Given the description of an element on the screen output the (x, y) to click on. 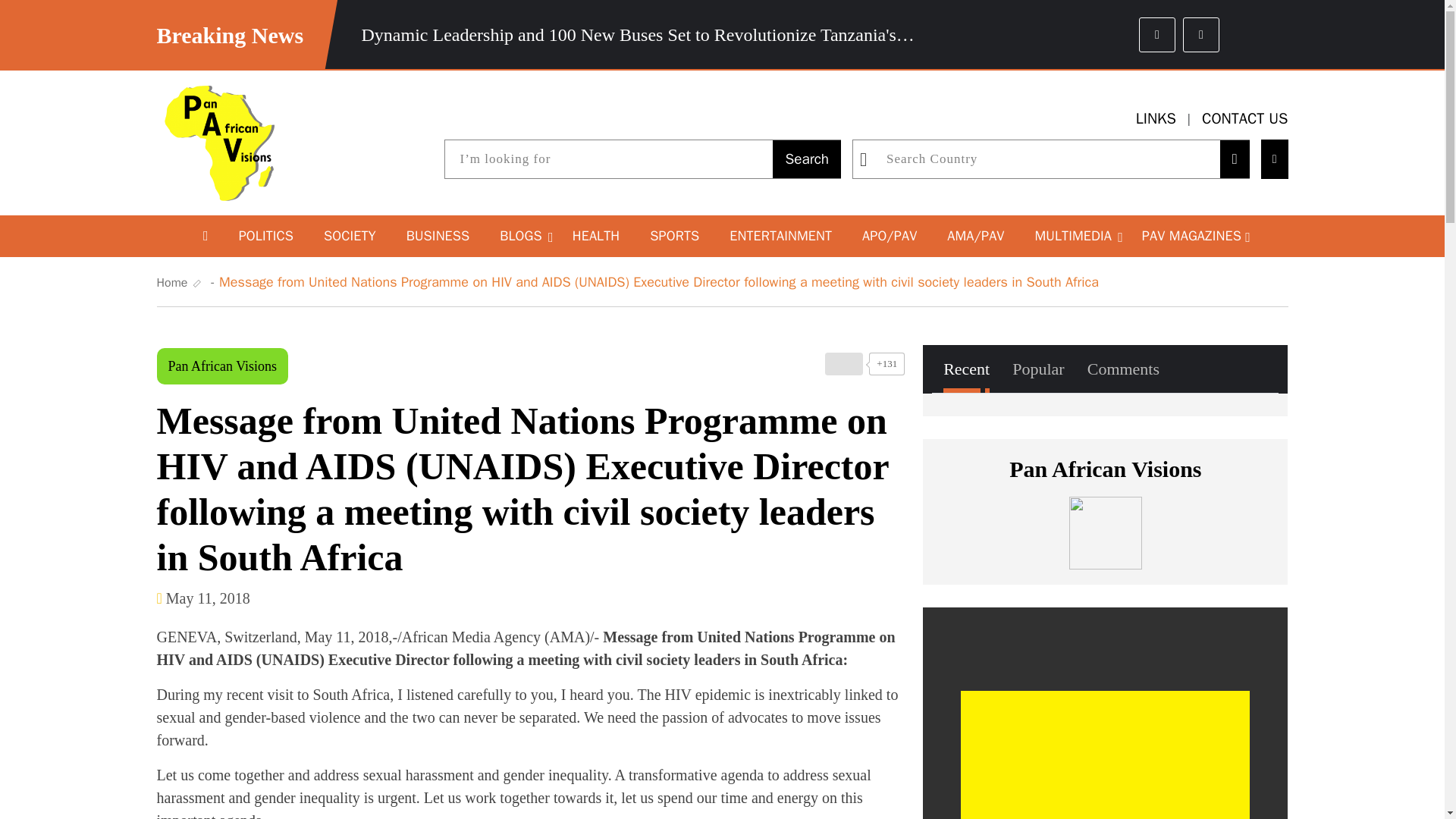
LINKS (1155, 118)
CONTACT US (1245, 118)
Search (807, 159)
Search (807, 159)
Search (807, 159)
